Given the description of an element on the screen output the (x, y) to click on. 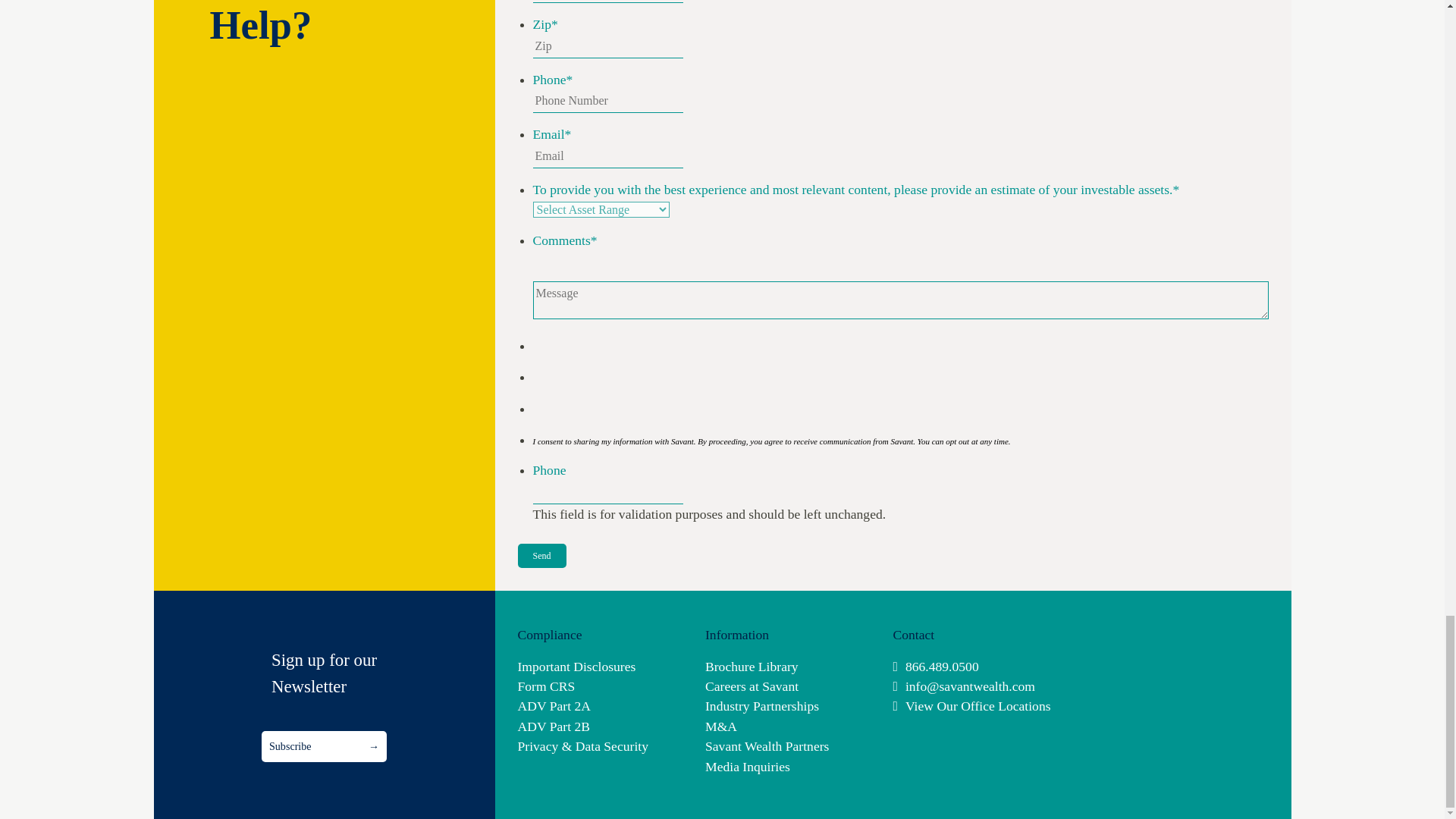
Send (541, 555)
